Given the description of an element on the screen output the (x, y) to click on. 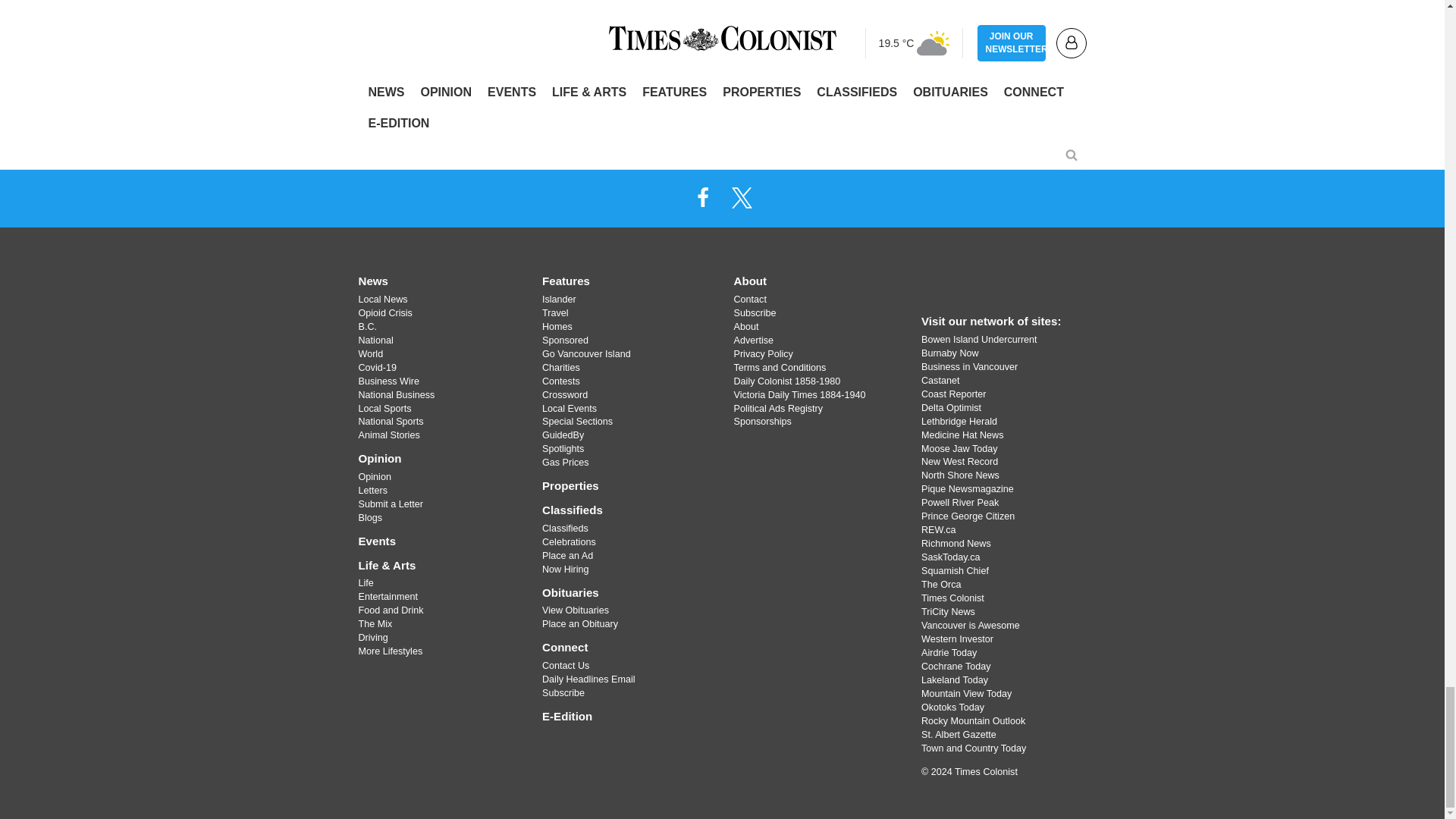
X (741, 196)
Facebook (702, 196)
